Given the description of an element on the screen output the (x, y) to click on. 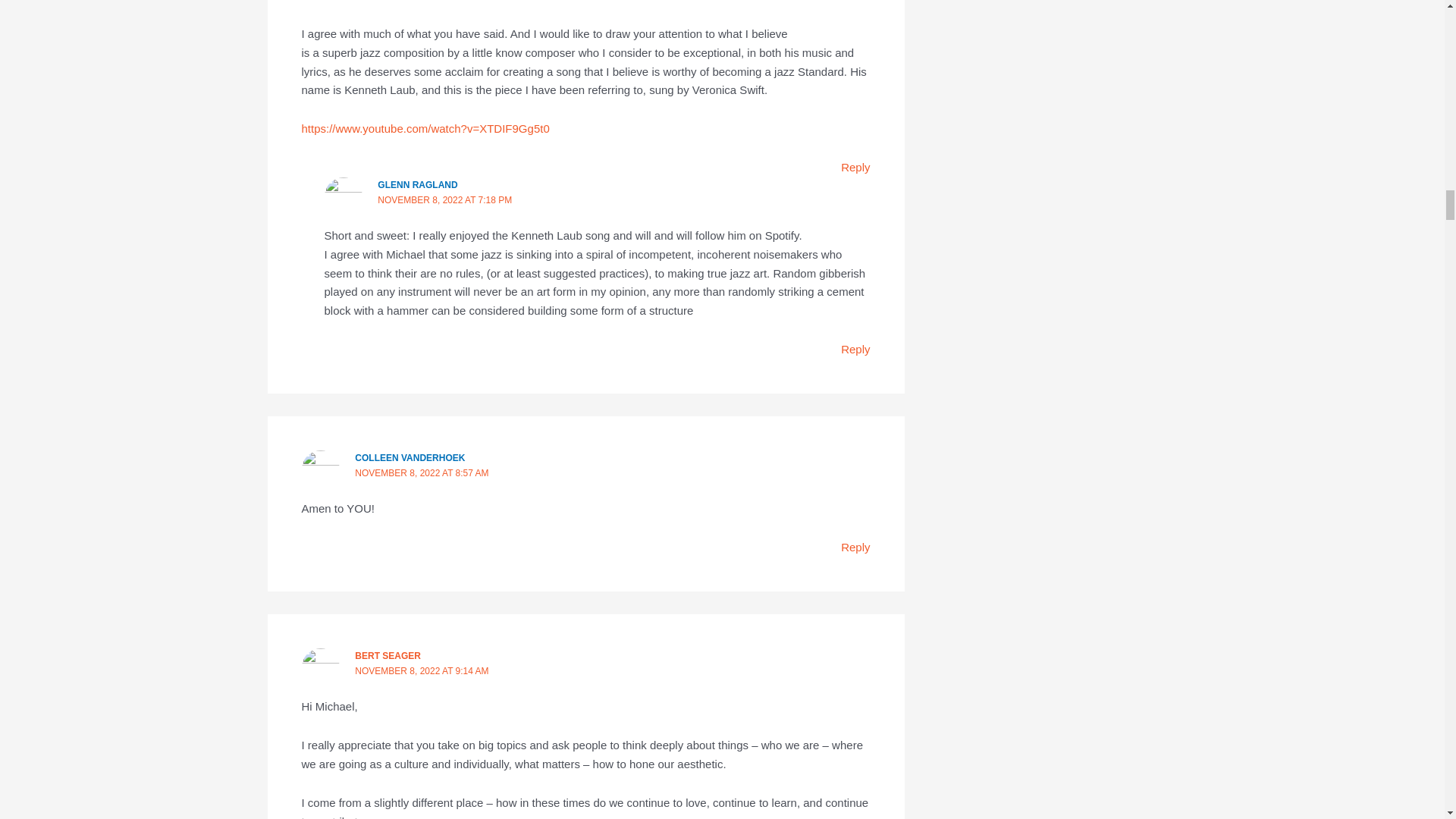
Reply (855, 546)
NOVEMBER 8, 2022 AT 7:18 PM (444, 199)
Reply (855, 349)
NOVEMBER 8, 2022 AT 8:57 AM (421, 472)
BERT SEAGER (387, 655)
Reply (855, 166)
NOVEMBER 8, 2022 AT 9:14 AM (421, 670)
